Given the description of an element on the screen output the (x, y) to click on. 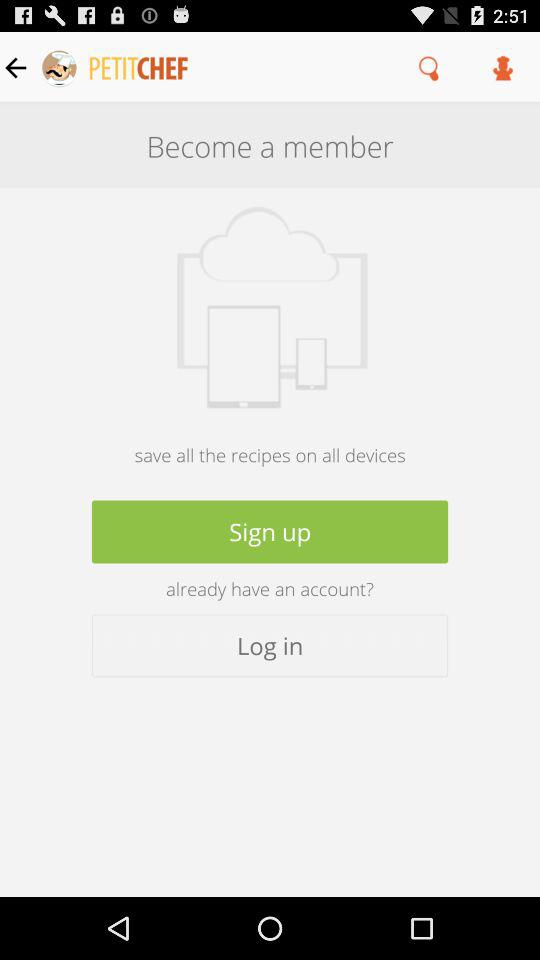
turn off the item below already have an item (269, 645)
